Given the description of an element on the screen output the (x, y) to click on. 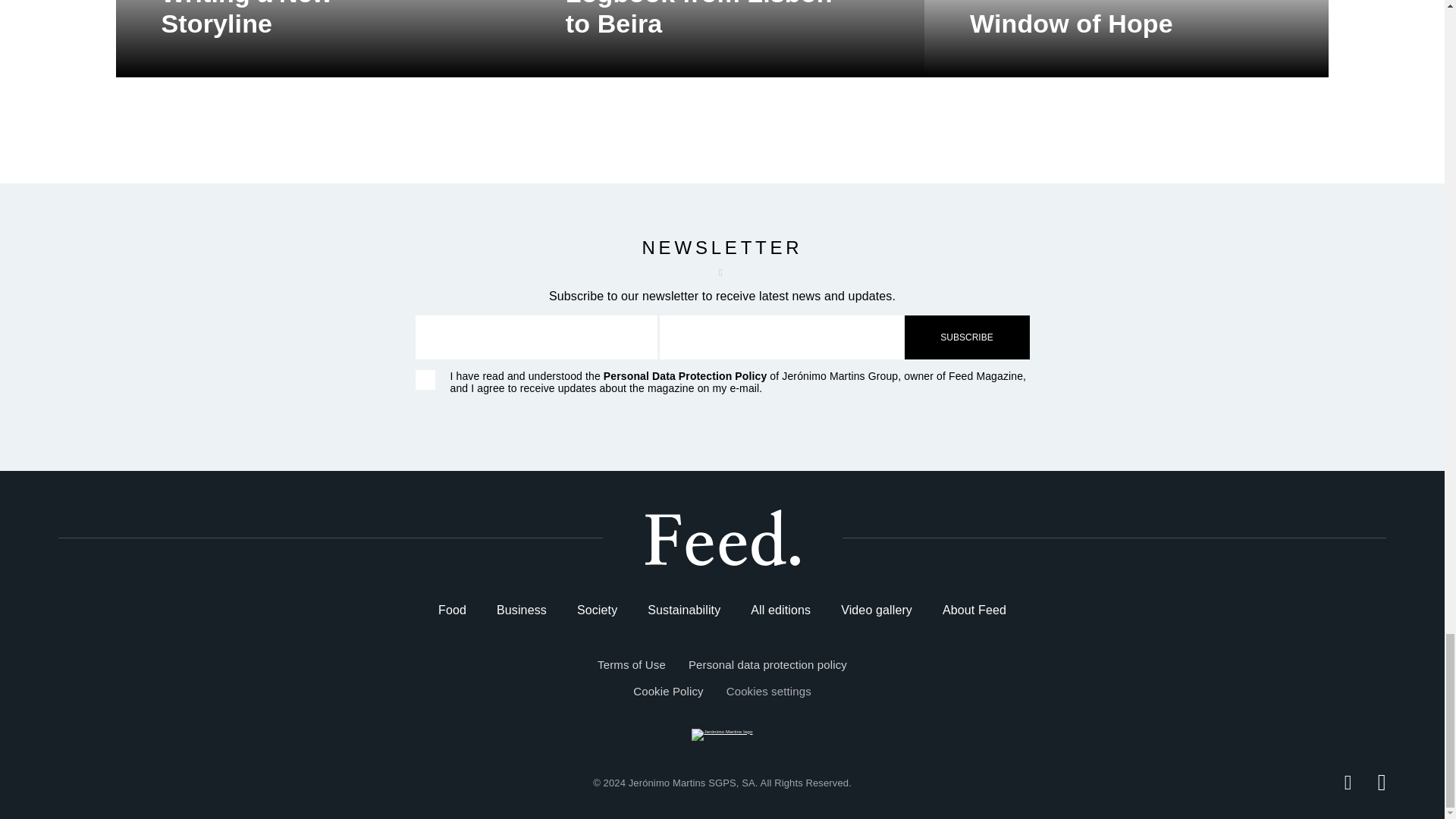
1 (424, 379)
Subscribe (966, 337)
Writing a New Storyline (317, 38)
Window of Hope (1125, 38)
Logbook from Lisbon to Beira (721, 38)
